Given the description of an element on the screen output the (x, y) to click on. 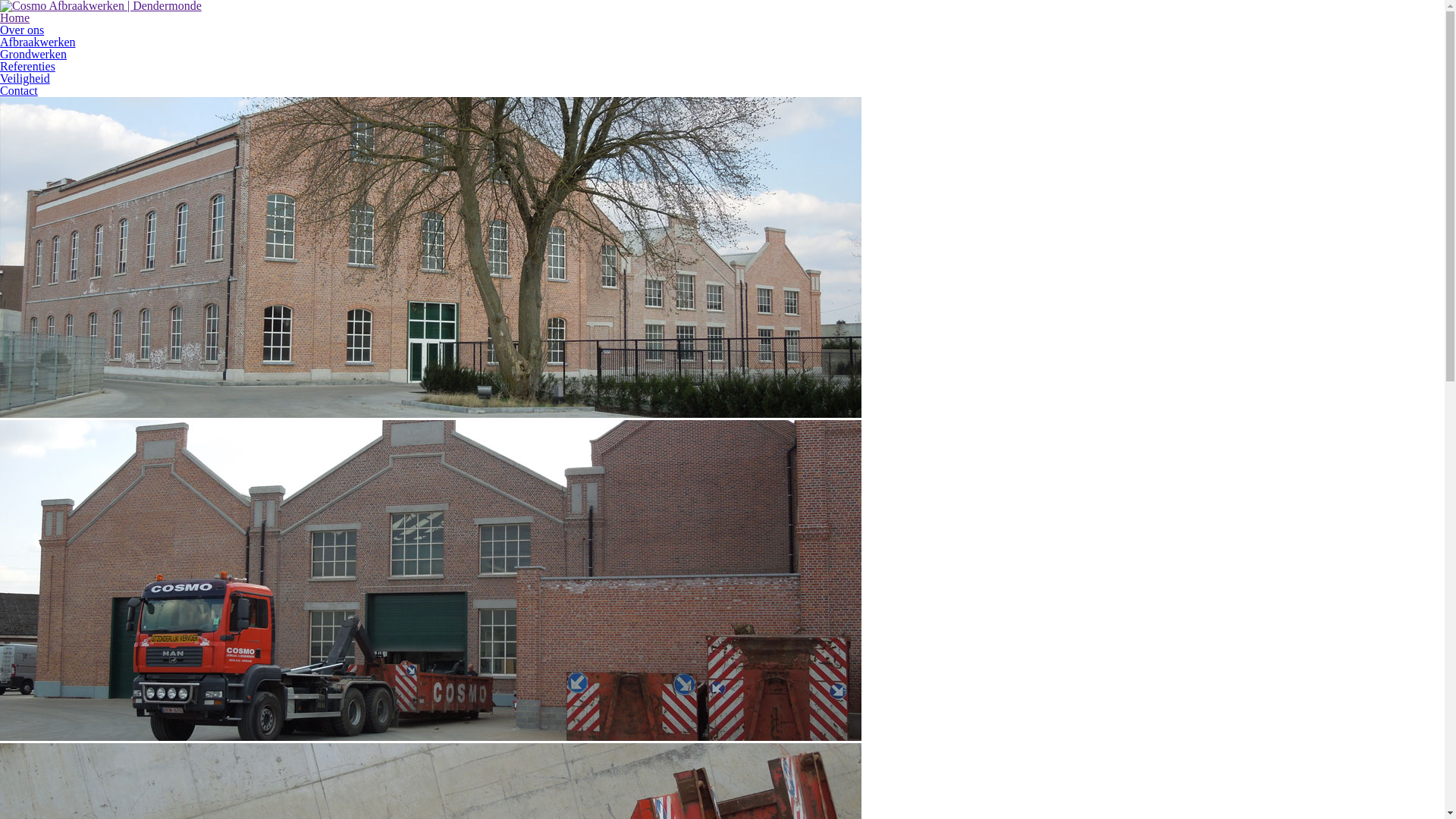
Grondwerken Element type: text (33, 53)
Veiligheid Element type: text (25, 78)
Over ons Element type: text (21, 29)
Referenties Element type: text (27, 65)
Home Element type: text (14, 17)
Contact Element type: text (18, 90)
Cosmo Afbraakwerken | Dendermonde Element type: hover (100, 6)
Afbraakwerken Element type: text (37, 41)
